Given the description of an element on the screen output the (x, y) to click on. 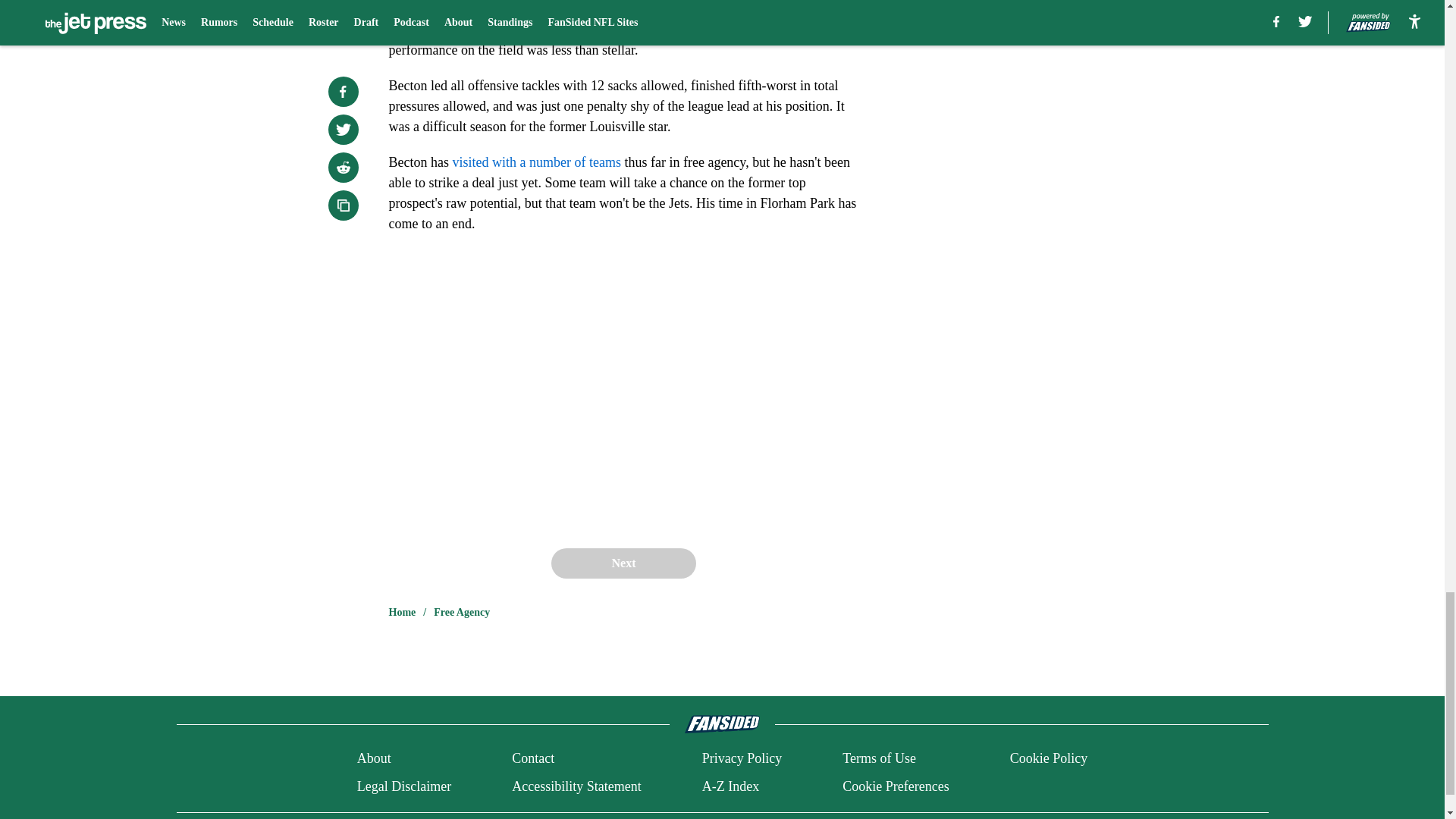
Free Agency (461, 612)
About (373, 758)
Contact (533, 758)
Terms of Use (879, 758)
Privacy Policy (742, 758)
Next (622, 562)
visited with a number of teams (535, 161)
Legal Disclaimer (403, 786)
Cookie Policy (1048, 758)
Home (401, 612)
